Given the description of an element on the screen output the (x, y) to click on. 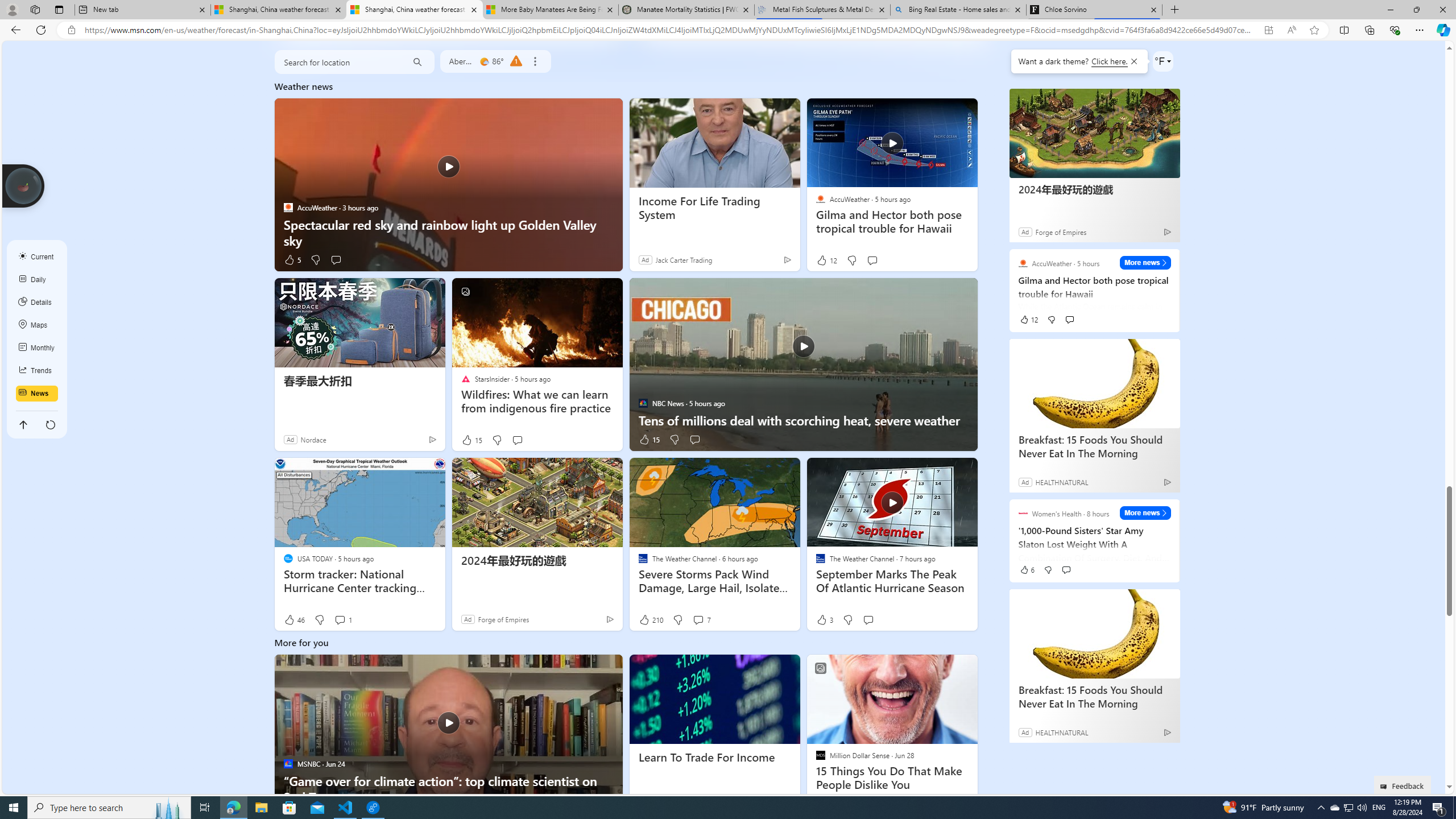
MSNBC (287, 763)
StarsInsider (465, 378)
Jack Carter Trading (683, 259)
